Given the description of an element on the screen output the (x, y) to click on. 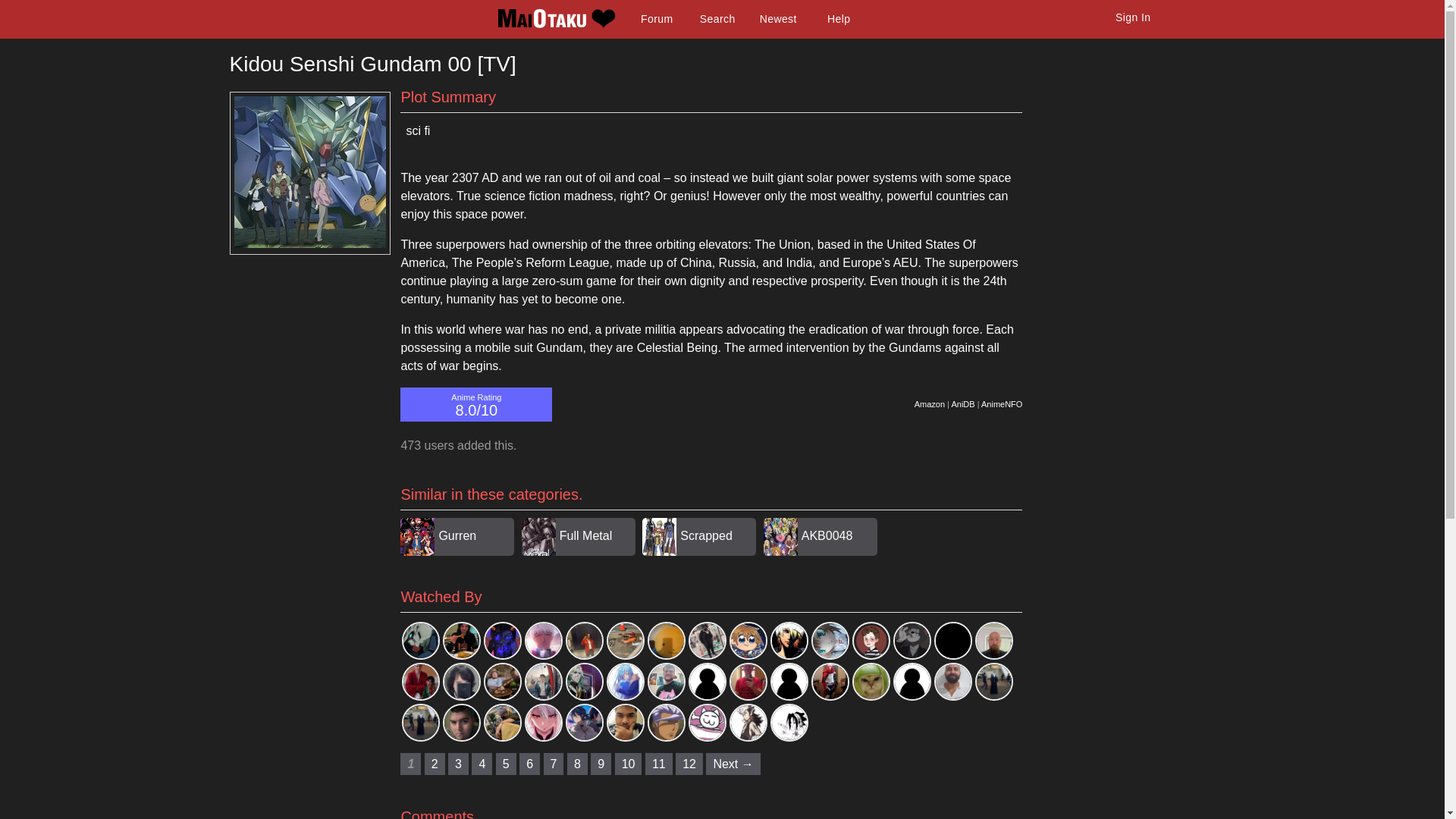
AKB0048 (827, 535)
Search (717, 19)
AniDB (962, 403)
Newest (778, 19)
Forum (656, 19)
Full Metal Panic! (585, 553)
Sign In (1132, 17)
Scrapped Princess (705, 553)
Amazon (929, 403)
Help (838, 19)
